Given the description of an element on the screen output the (x, y) to click on. 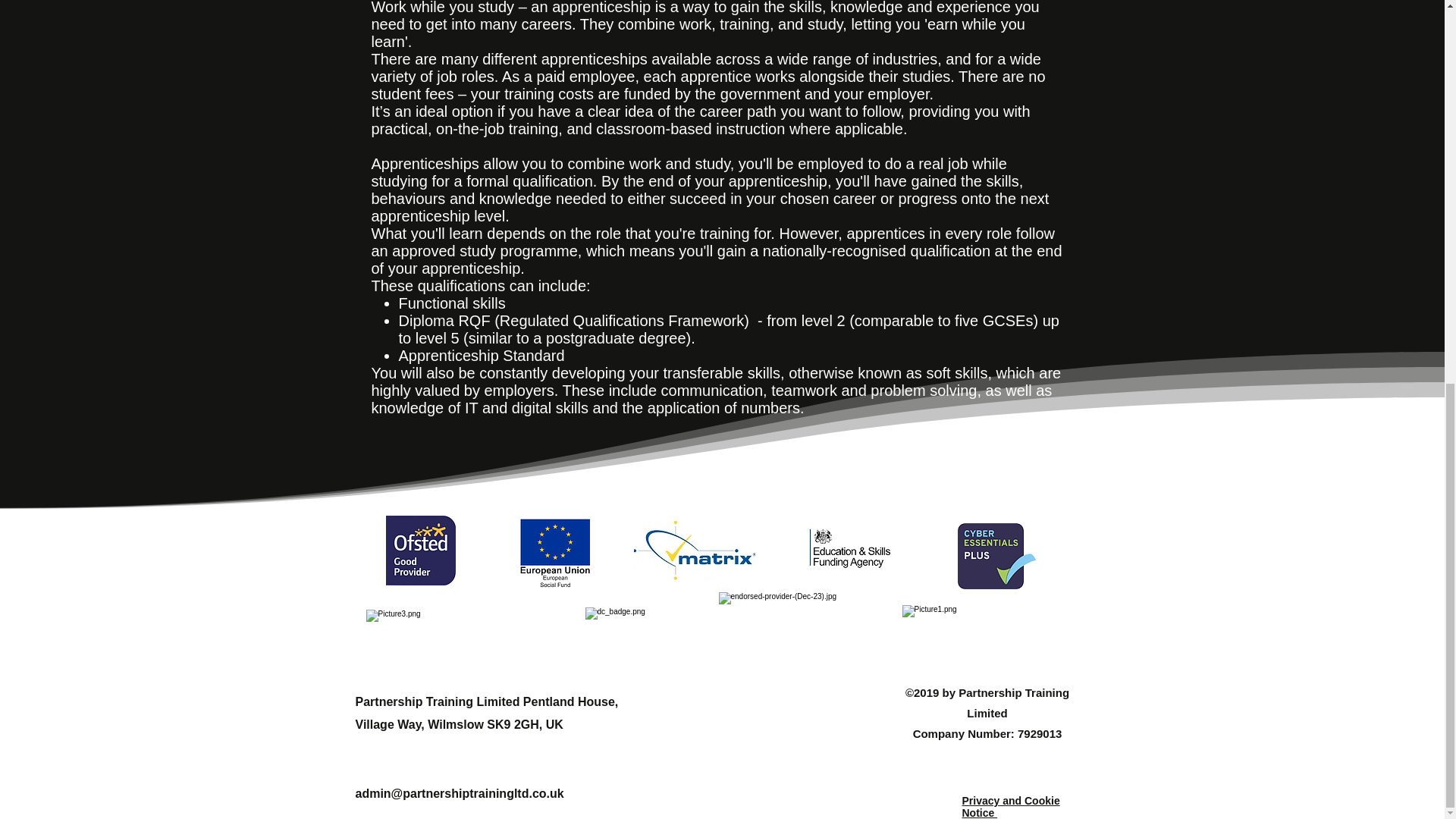
Picture4.jpg (635, 631)
download.png (987, 629)
european.png (554, 553)
esfa.jpg (850, 555)
skillsfirst.jpg (419, 550)
pit.png (995, 555)
matrix.jpg (694, 549)
